Given the description of an element on the screen output the (x, y) to click on. 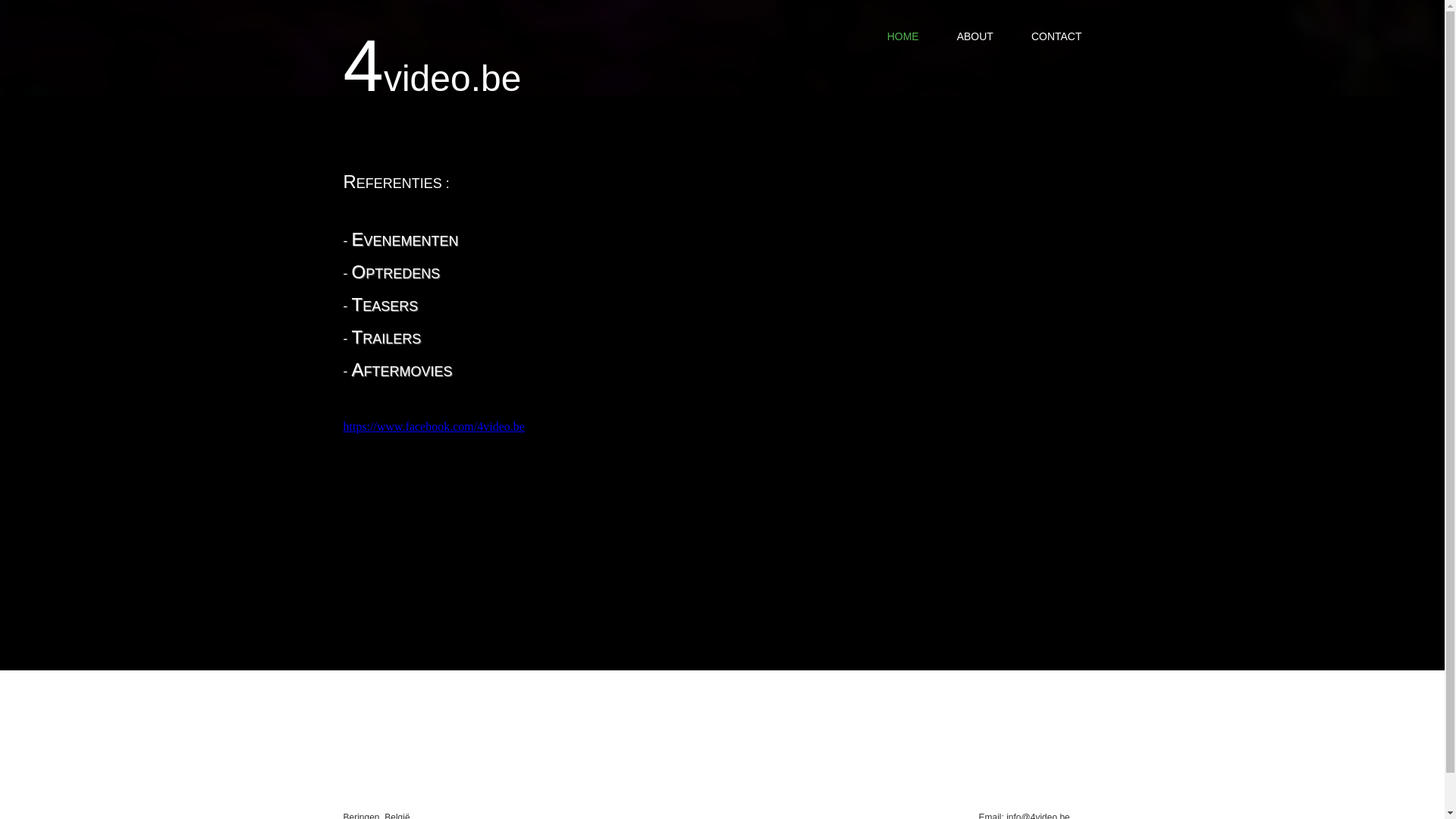
CONTACT Element type: text (1056, 36)
https://www.facebook.com/4video.be Element type: text (433, 426)
O Element type: text (358, 271)
ABOUT Element type: text (975, 36)
FTERMOVIES Element type: text (408, 371)
EASERS Element type: text (389, 305)
A Element type: text (357, 369)
PTREDENS Element type: text (402, 273)
E Element type: text (357, 239)
4video.be
HOME
ABOUT
CONTACT Element type: text (721, 48)
T Element type: text (357, 336)
VENEMENTEN Element type: text (411, 240)
HOME Element type: text (903, 36)
RAILERS Element type: text (391, 338)
T Element type: text (357, 304)
